Given the description of an element on the screen output the (x, y) to click on. 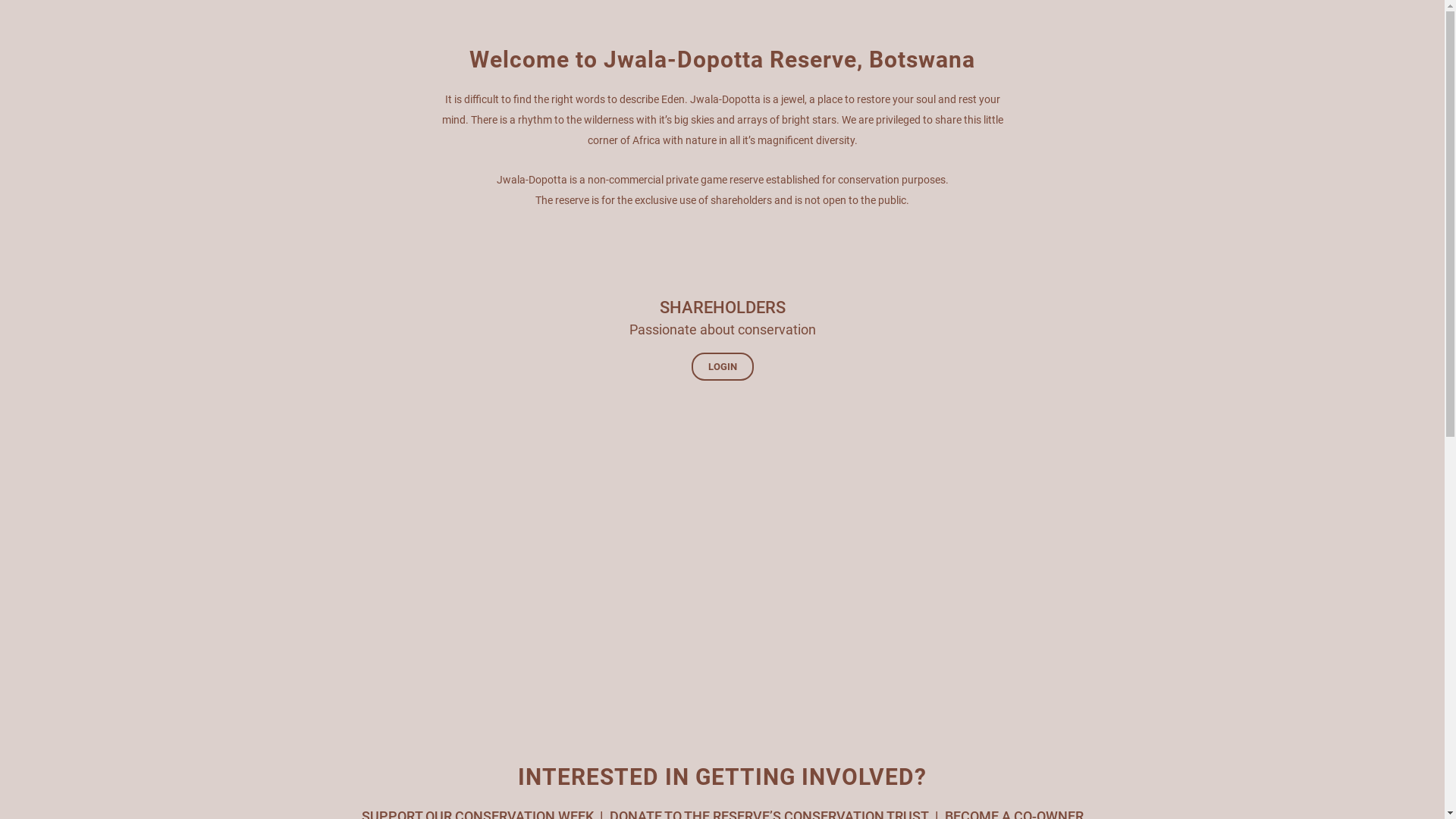
LOGIN Element type: text (722, 366)
